Given the description of an element on the screen output the (x, y) to click on. 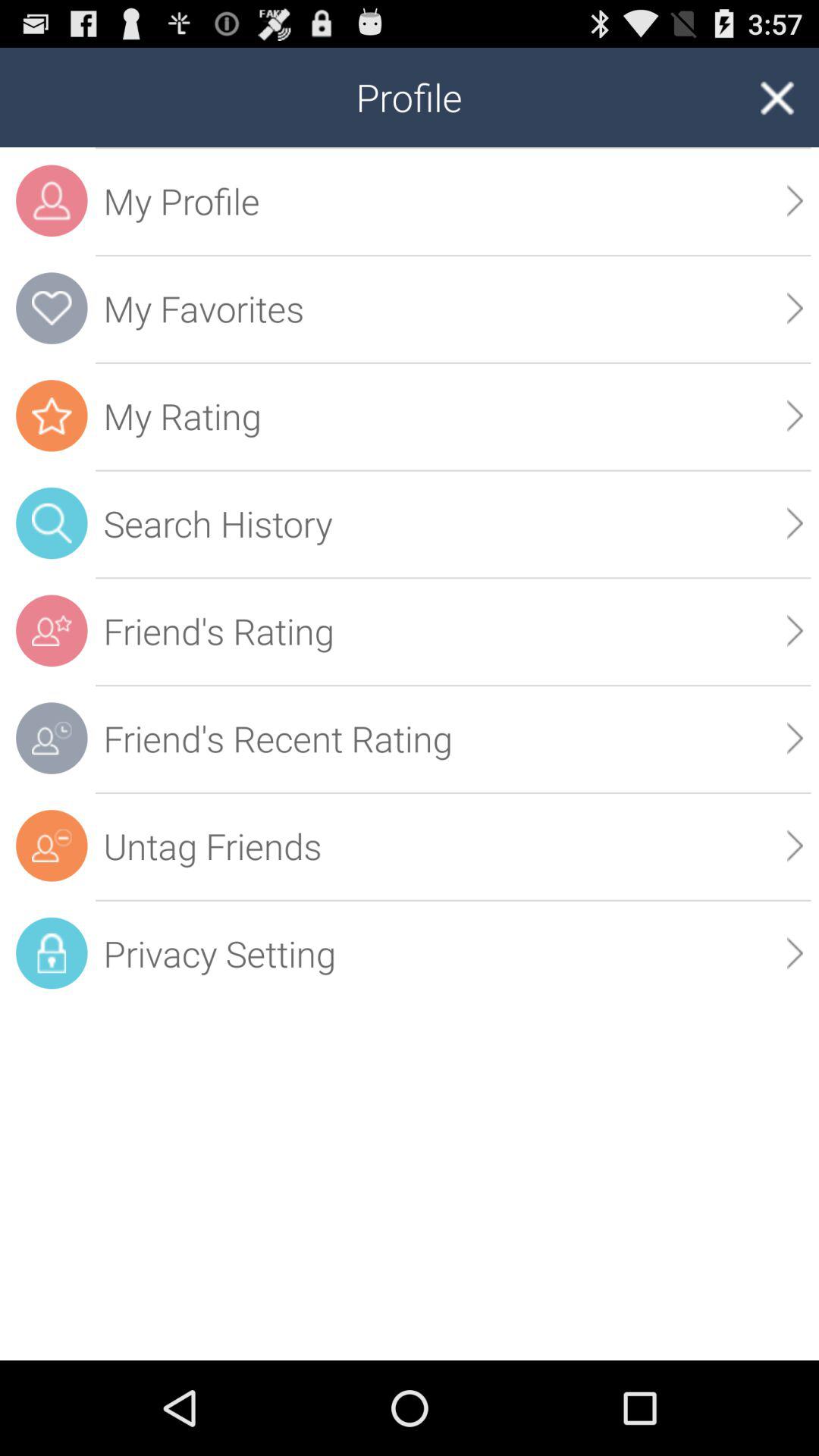
select the item above my favorites (795, 200)
